Given the description of an element on the screen output the (x, y) to click on. 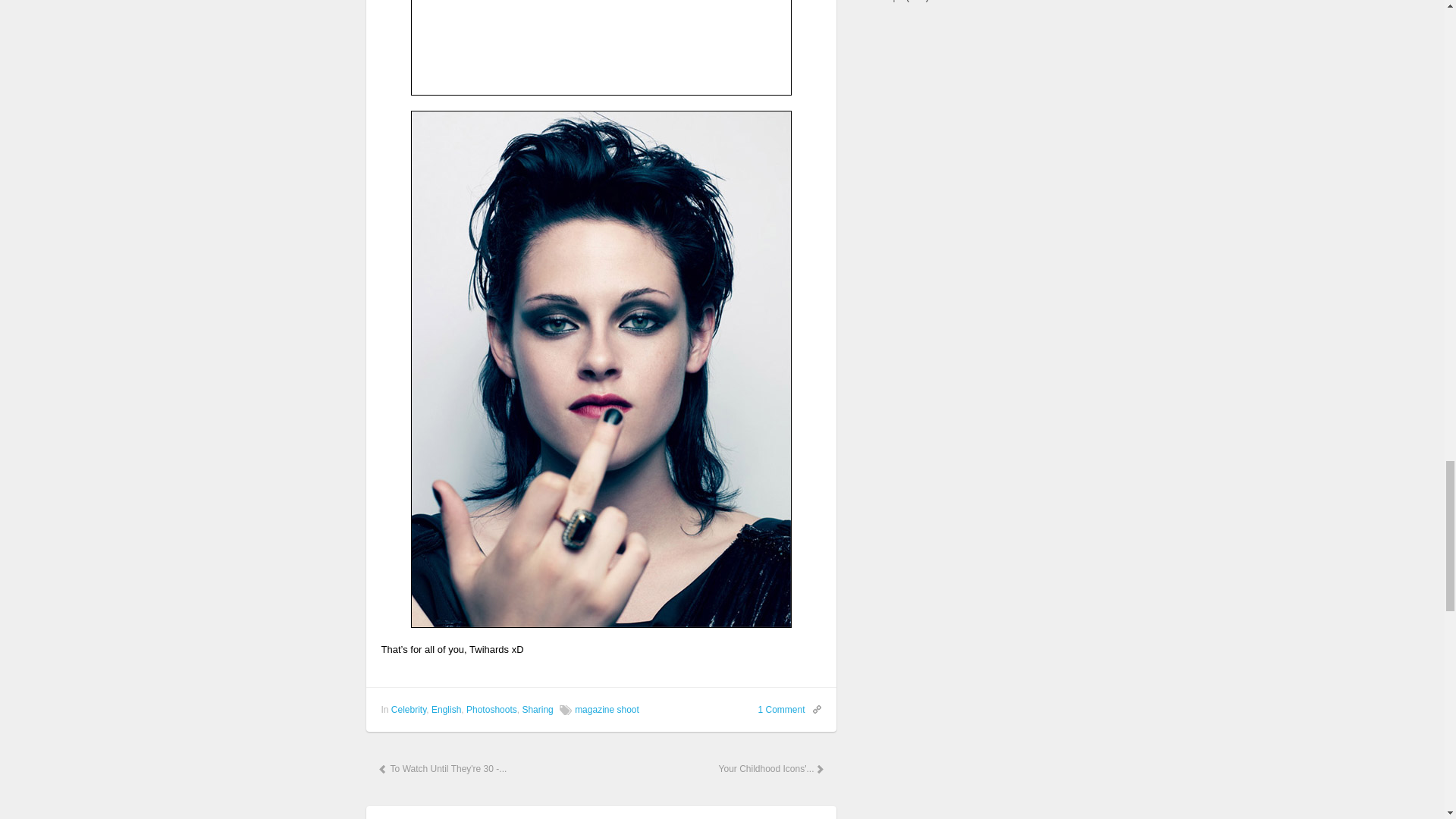
 Your Childhood Icons'... (769, 768)
Photoshoots (490, 709)
permalink  (813, 708)
 To Watch Until They're 30 -... (441, 768)
magazine shoot (607, 709)
1 Comment (781, 709)
Celebrity (408, 709)
Sharing (537, 709)
English (445, 709)
